Given the description of an element on the screen output the (x, y) to click on. 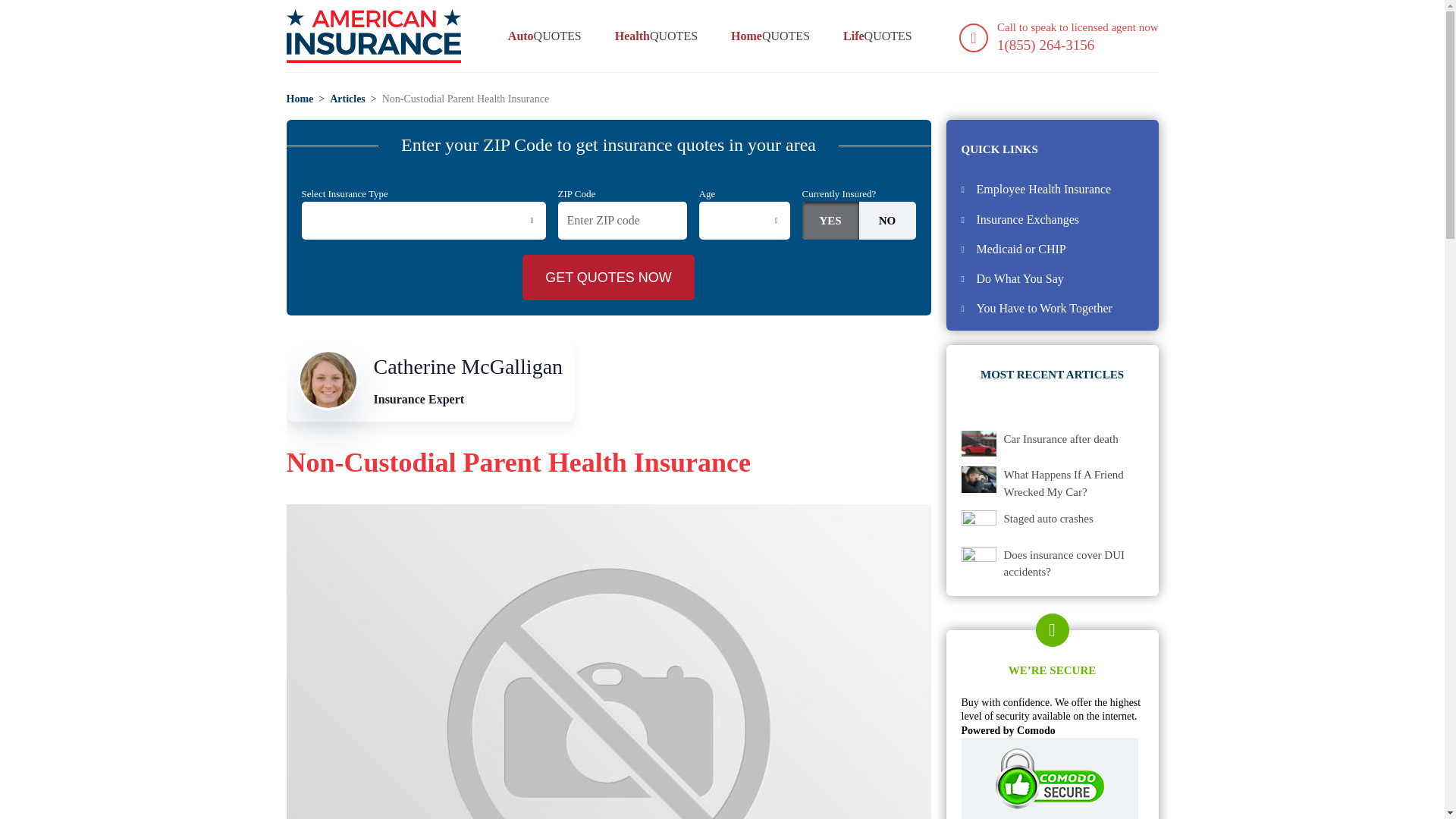
What Happens If A Friend Wrecked My Car? (1073, 483)
Staged auto crashes (1048, 518)
LifeQUOTES (877, 35)
Medicaid or CHIP (1020, 248)
Car Insurance after death (430, 379)
You Have to Work Together (1061, 438)
Insurance Exchanges (1044, 308)
Articles (1028, 219)
AutoQUOTES (347, 98)
